Given the description of an element on the screen output the (x, y) to click on. 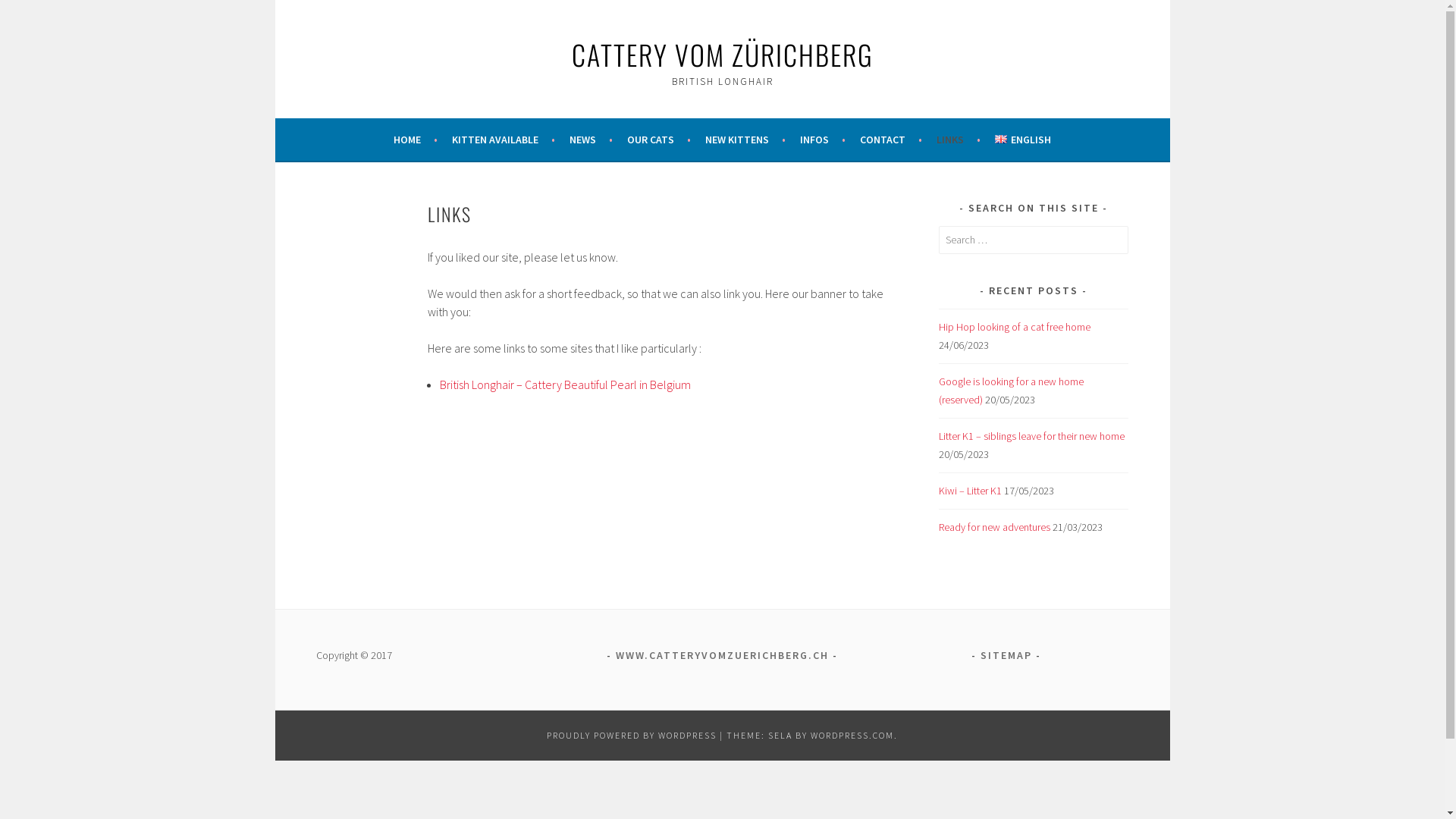
ENGLISH Element type: text (1022, 139)
HOME Element type: text (415, 139)
Ready for new adventures Element type: text (994, 526)
NEWS Element type: text (590, 139)
WWW.CATTERYVOMZUERICHBERG.CH Element type: text (721, 655)
Hip Hop looking of a cat free home Element type: text (1014, 326)
LINKS Element type: text (958, 139)
KITTEN AVAILABLE Element type: text (503, 139)
PROUDLY POWERED BY WORDPRESS Element type: text (631, 734)
NEW KITTENS Element type: text (745, 139)
Search Element type: text (27, 13)
CONTACT Element type: text (890, 139)
SITEMAP Element type: text (1006, 655)
OUR CATS Element type: text (658, 139)
INFOS Element type: text (822, 139)
WORDPRESS.COM Element type: text (852, 734)
Google is looking for a new home (reserved) Element type: text (1010, 390)
